Given the description of an element on the screen output the (x, y) to click on. 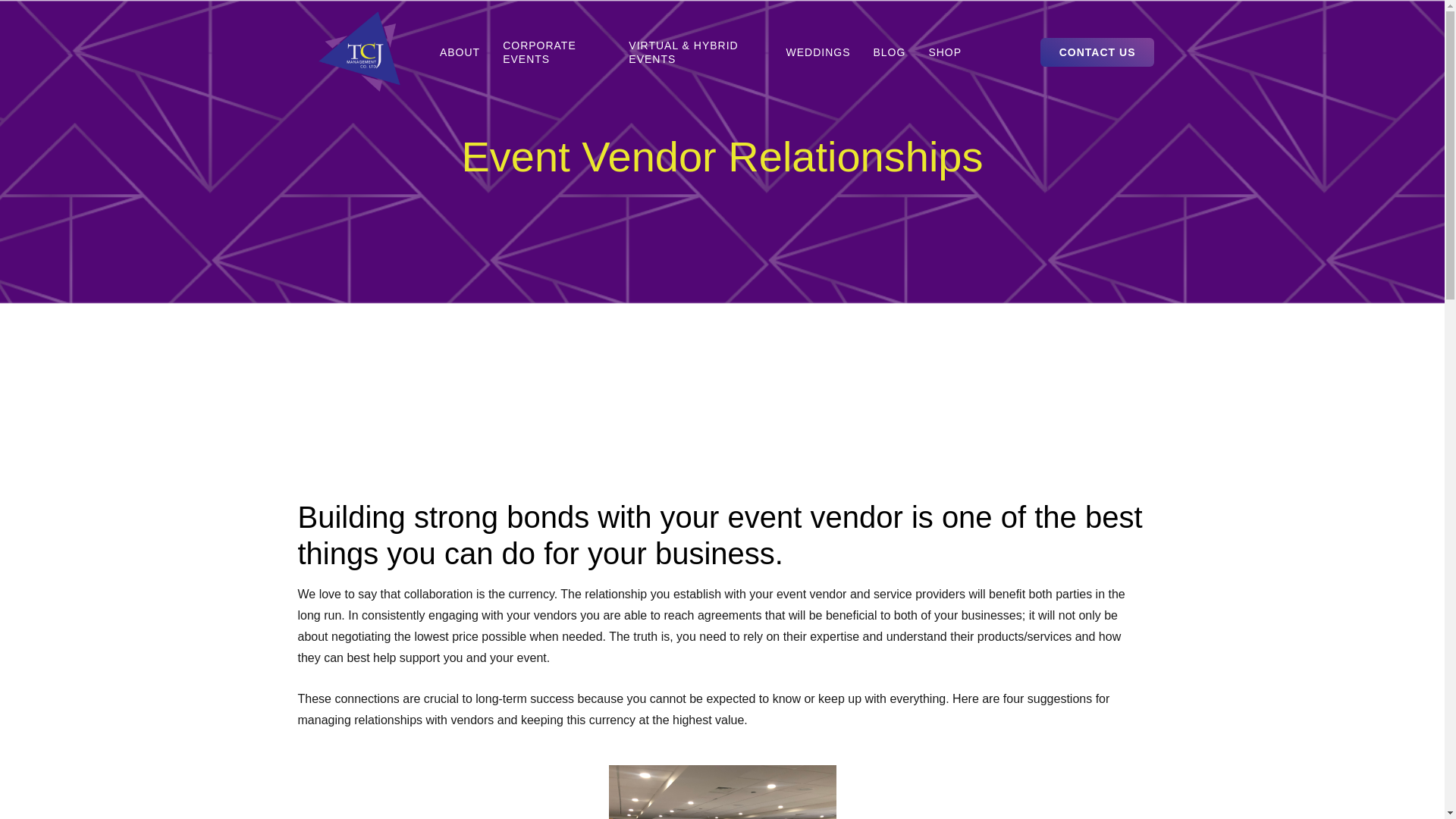
CORPORATE EVENTS (554, 52)
WEDDINGS (817, 52)
CONTACT US (1097, 51)
ABOUT (460, 52)
SHOP (944, 52)
BLOG (889, 52)
